Given the description of an element on the screen output the (x, y) to click on. 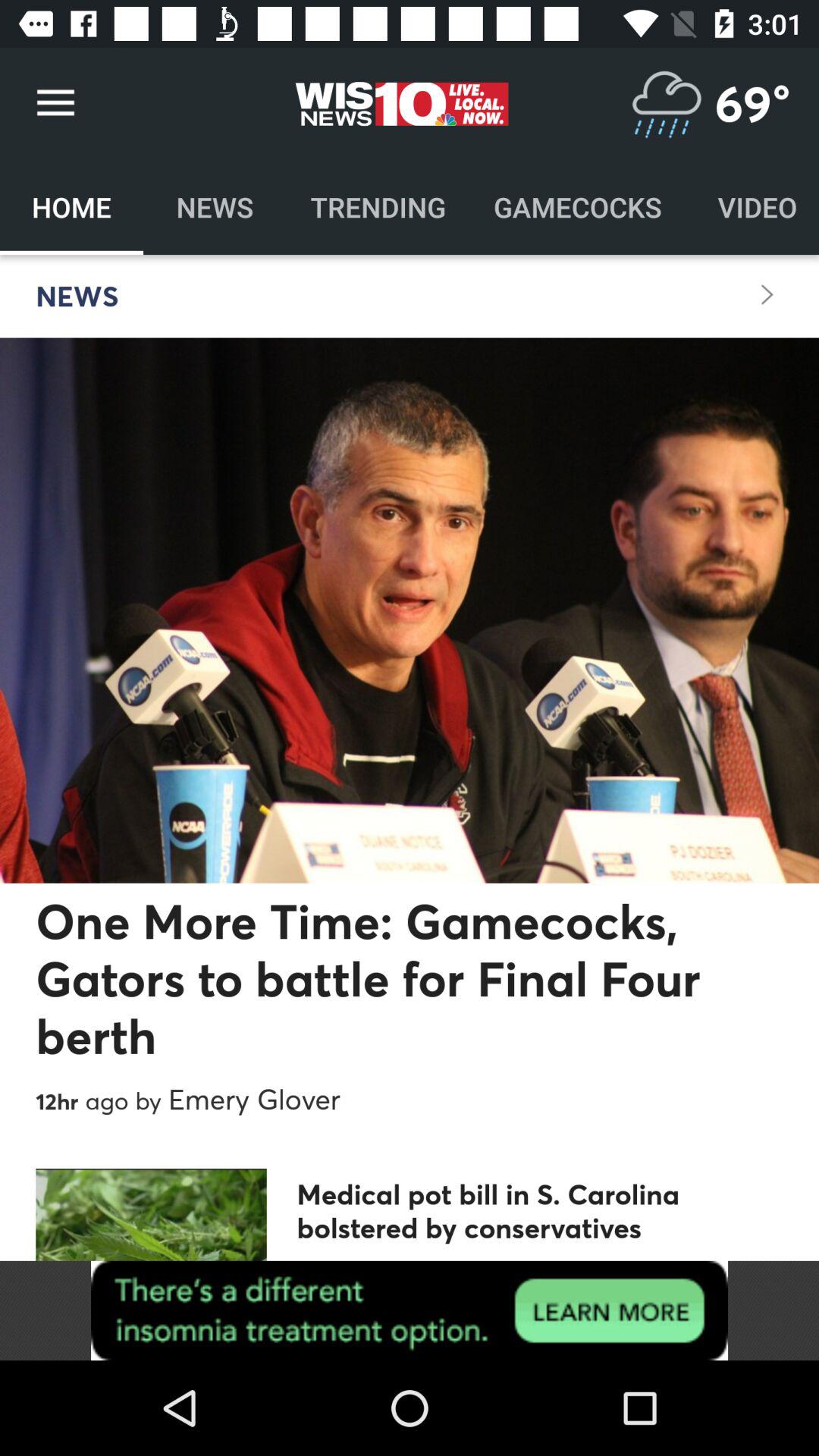
select the icon which is before 69 degree (665, 102)
select the next icon which is below video on page (766, 295)
select 69 degree which is above video on the top right corner of the page (752, 103)
